Given the description of an element on the screen output the (x, y) to click on. 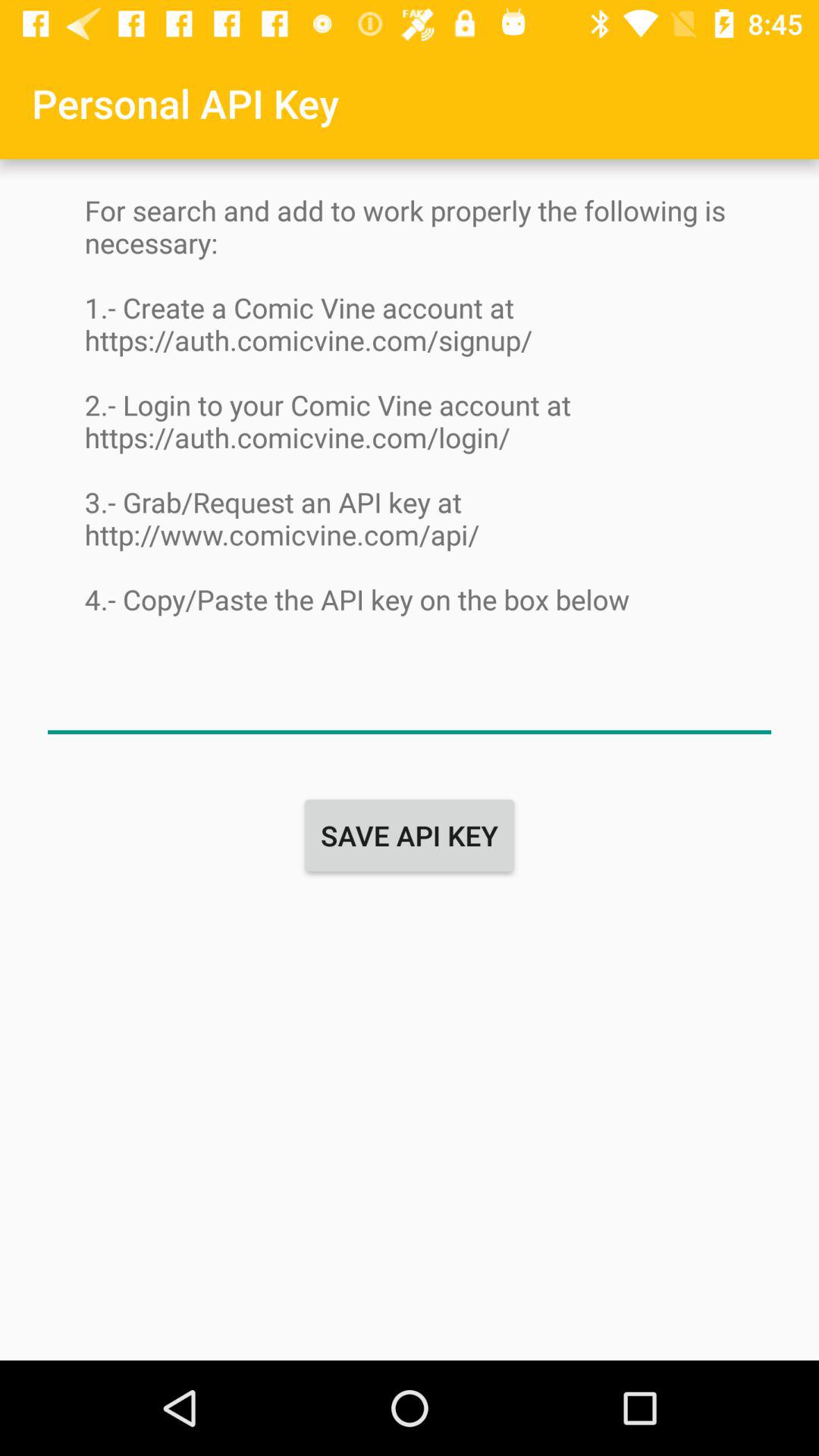
name button (409, 702)
